Given the description of an element on the screen output the (x, y) to click on. 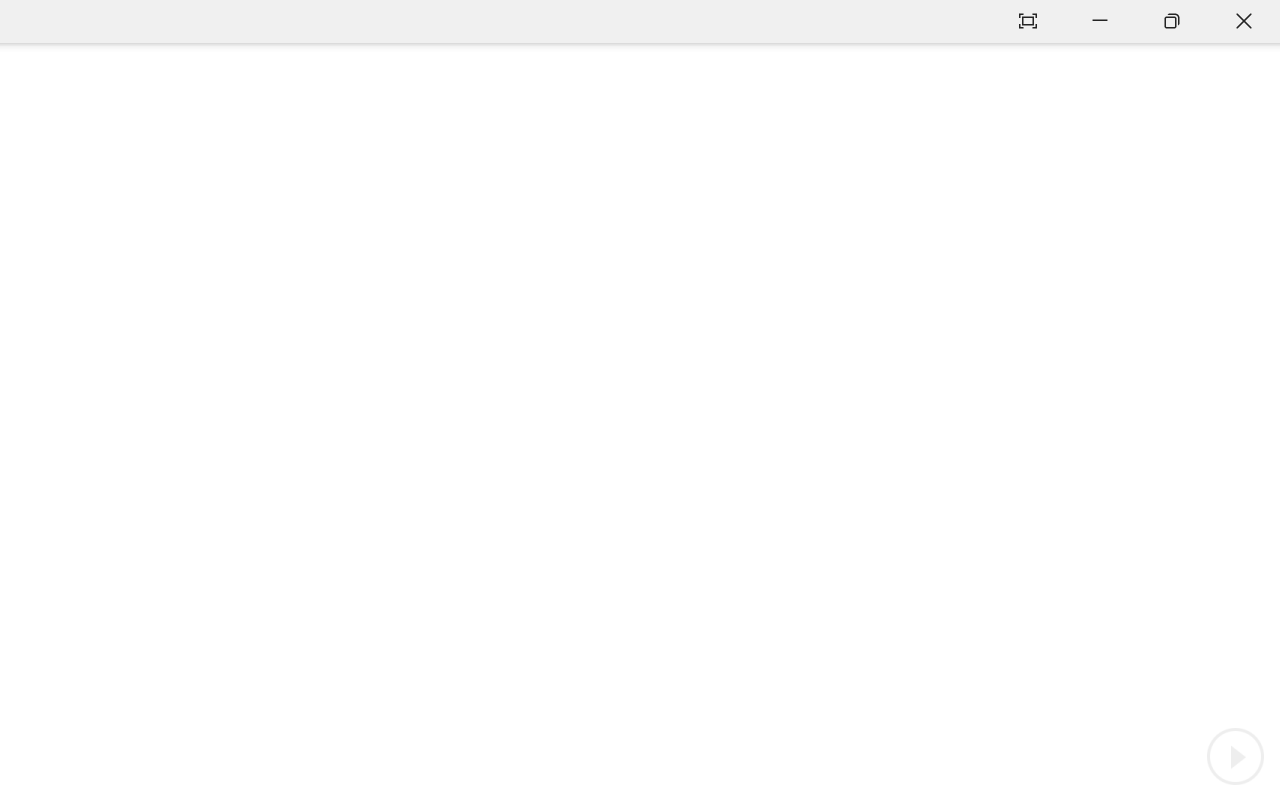
Translator (1260, 245)
